Given the description of an element on the screen output the (x, y) to click on. 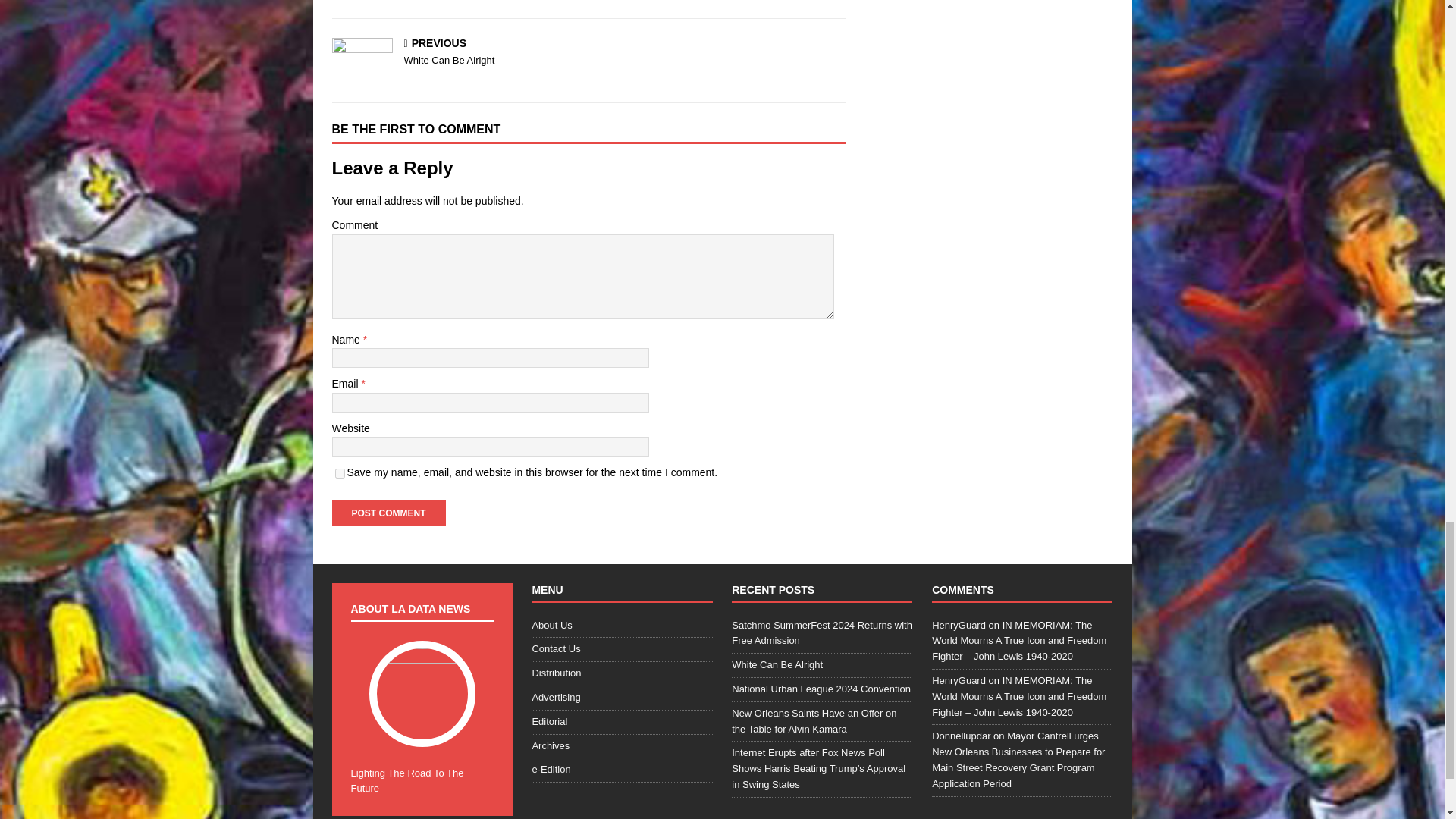
yes (339, 473)
Post Comment (388, 513)
